Given the description of an element on the screen output the (x, y) to click on. 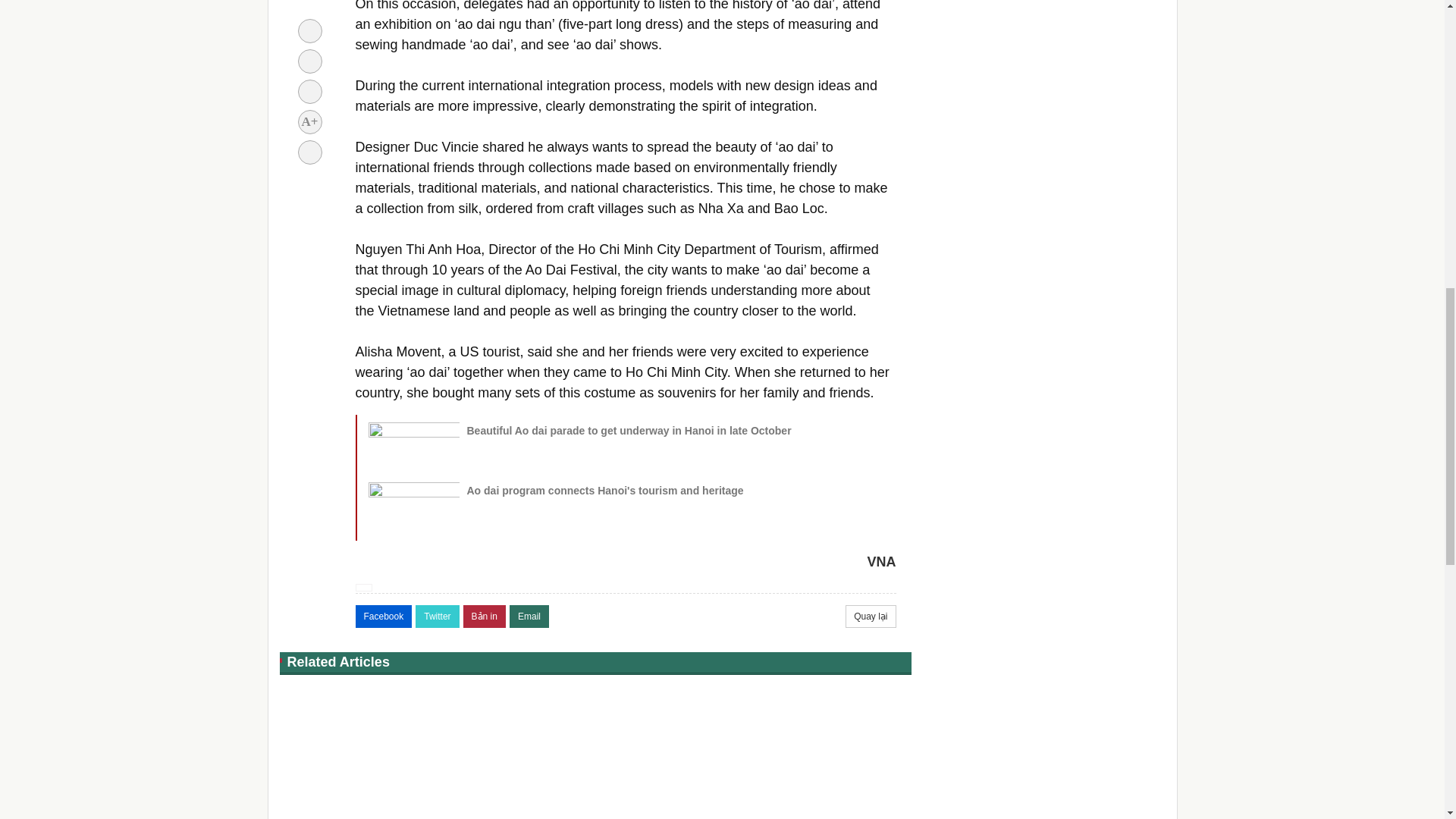
Ao dai program connects Hanoi's tourism and heritage (605, 490)
Email (528, 616)
Twitter (436, 616)
Facebook (383, 616)
